Given the description of an element on the screen output the (x, y) to click on. 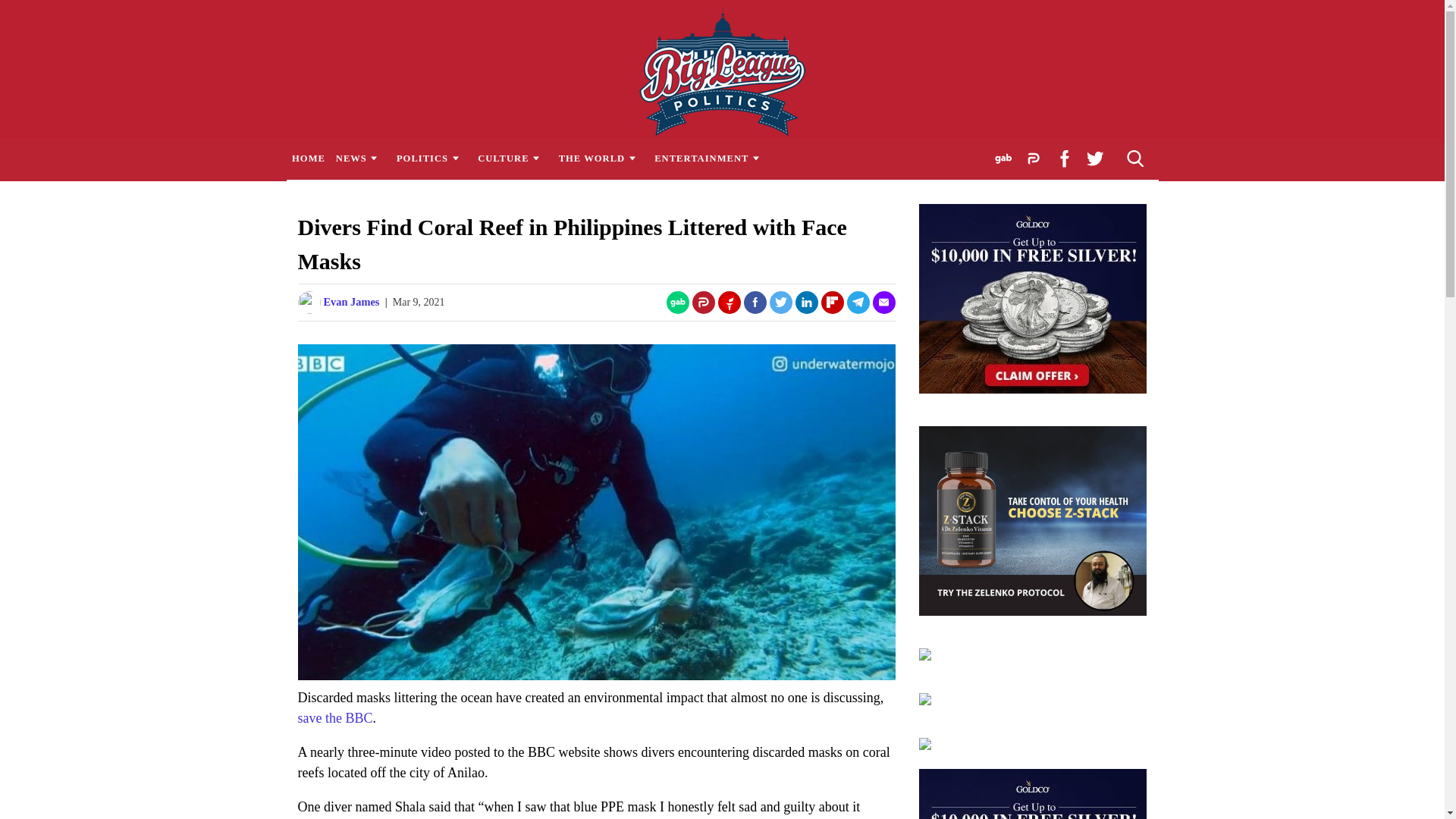
THE WORLD (601, 158)
CULTURE (512, 158)
POLITICS (430, 158)
Posts by Evan James (350, 302)
HOME (308, 158)
ENTERTAINMENT (711, 158)
NEWS (360, 158)
